Given the description of an element on the screen output the (x, y) to click on. 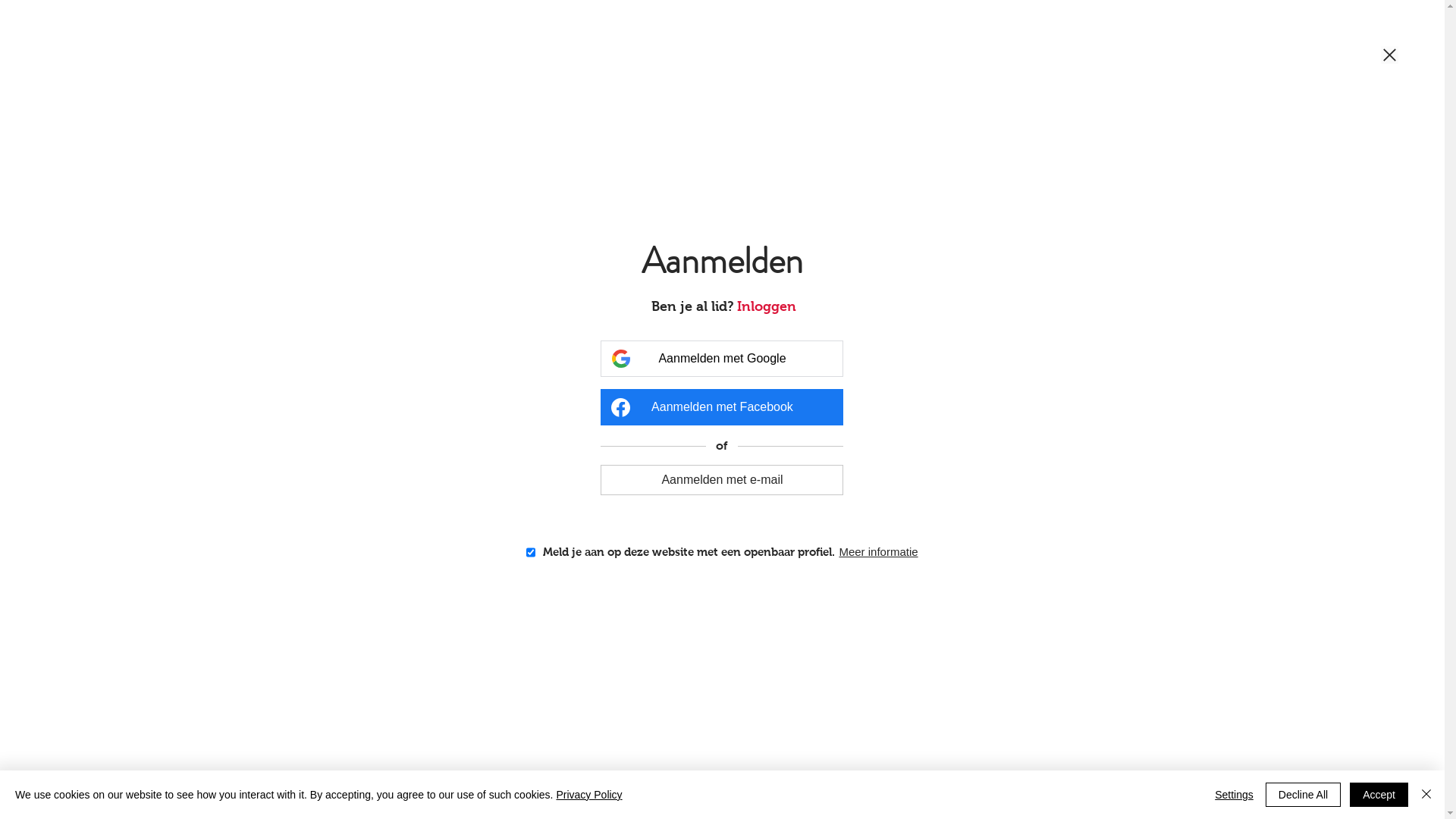
Inloggen Element type: text (766, 306)
Decline All Element type: text (1302, 794)
Accept Element type: text (1378, 794)
Aanmelden met Google Element type: text (721, 358)
Aanmelden met e-mail Element type: text (721, 479)
Aanmelden met Facebook Element type: text (721, 407)
Meer informatie Element type: text (877, 551)
Privacy Policy Element type: text (588, 794)
